Given the description of an element on the screen output the (x, y) to click on. 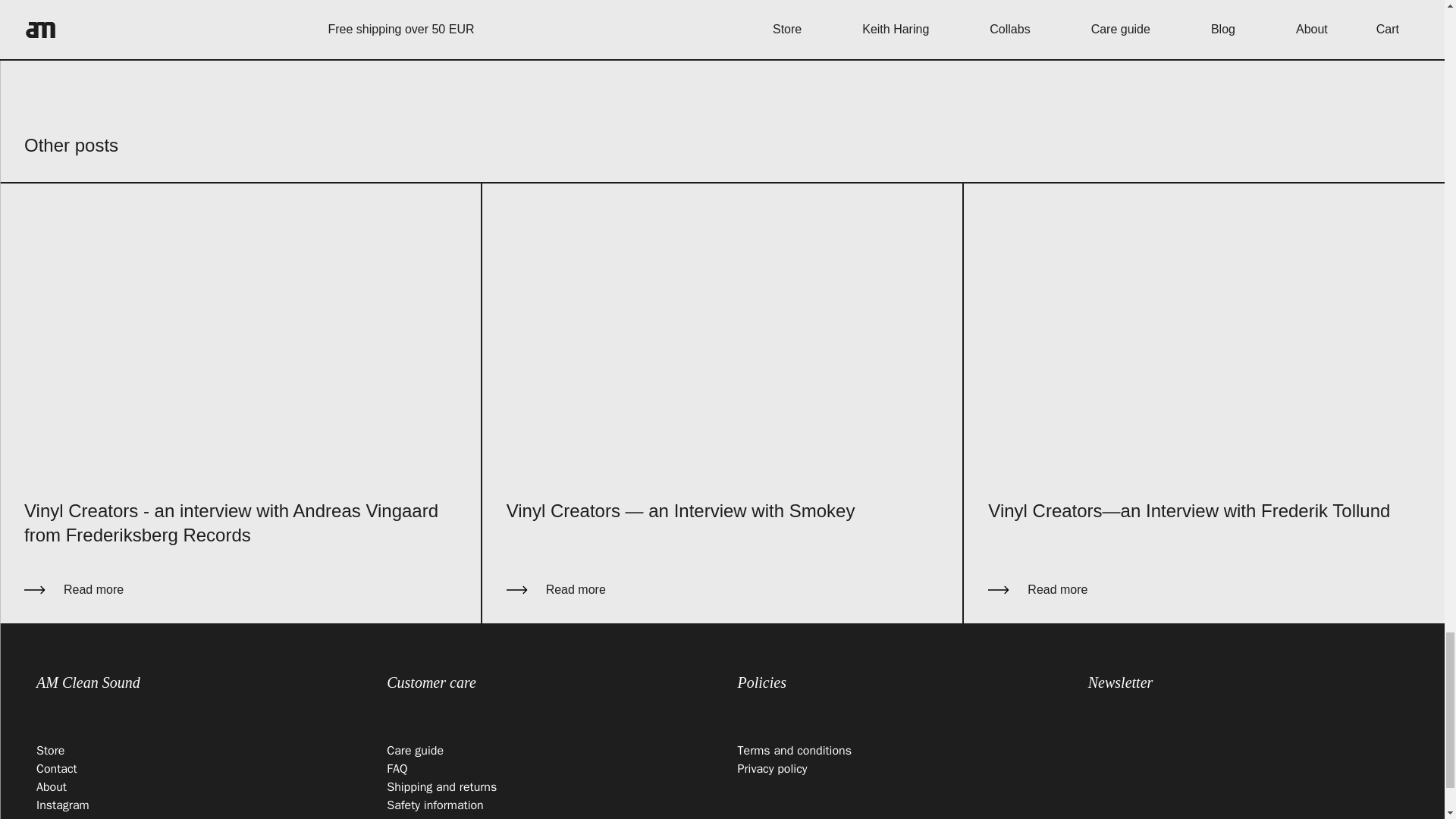
Contact (56, 768)
Read more (240, 589)
Safety information (435, 805)
Read more (722, 589)
Store (50, 750)
Shipping and returns (441, 786)
Care guide (415, 750)
Instagram (62, 805)
Privacy policy (771, 768)
Read more (1204, 589)
Terms and conditions (793, 750)
About (51, 786)
FAQ (397, 768)
